Given the description of an element on the screen output the (x, y) to click on. 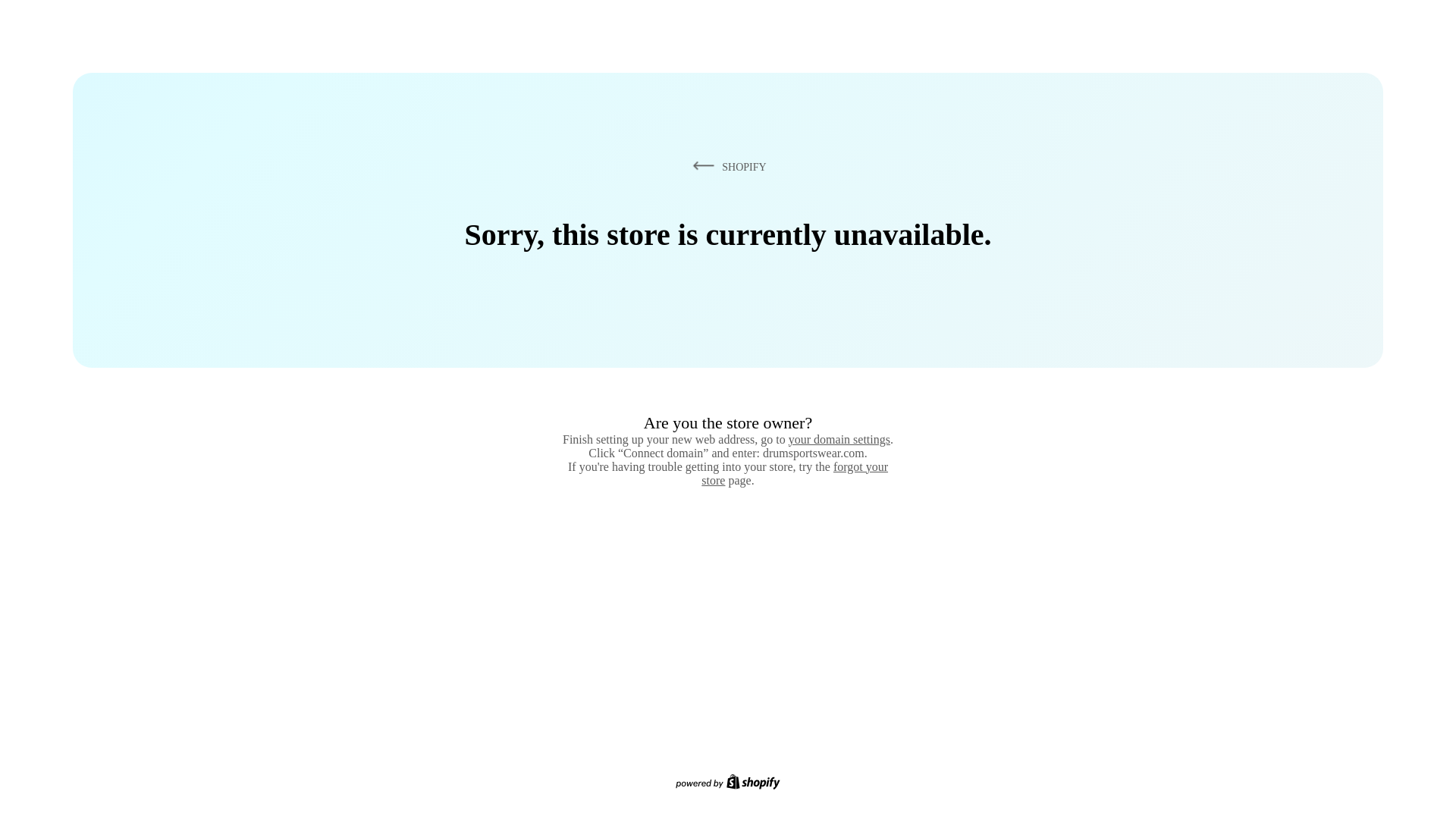
forgot your store (794, 473)
your domain settings (839, 439)
SHOPIFY (726, 166)
